Given the description of an element on the screen output the (x, y) to click on. 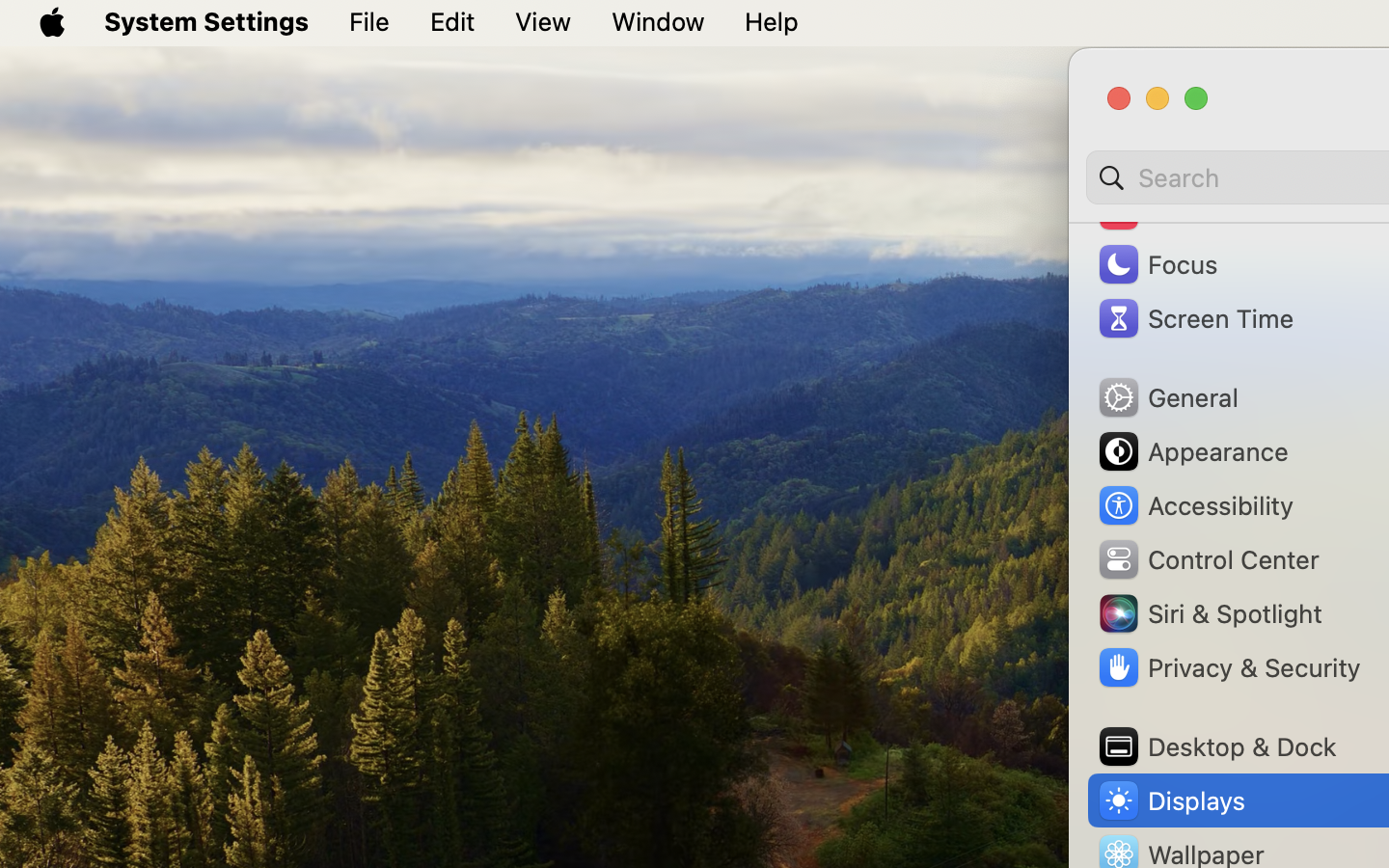
Screen Time Element type: AXStaticText (1194, 318)
